Given the description of an element on the screen output the (x, y) to click on. 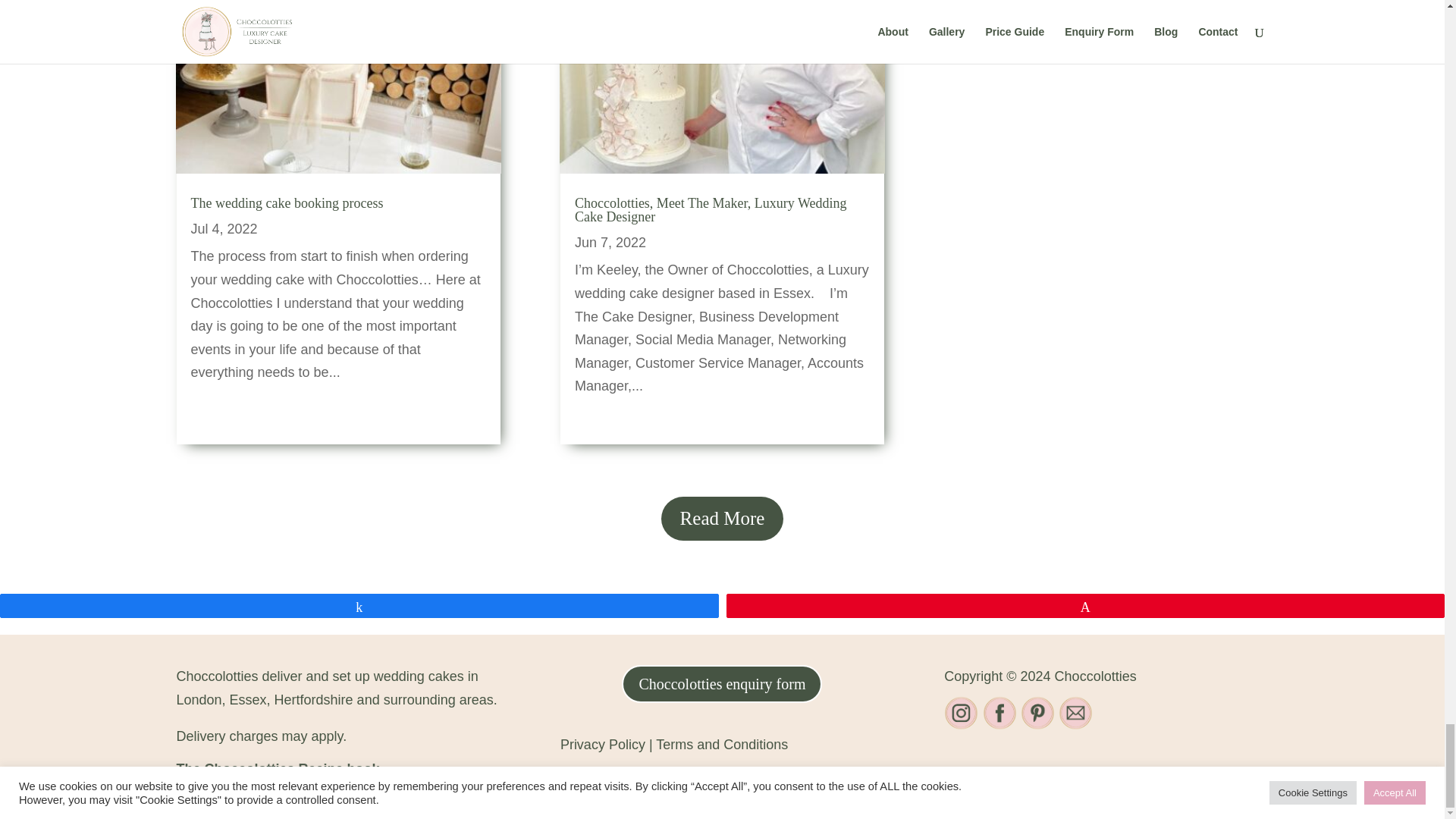
Choccolotties, Meet The Maker, Luxury Wedding Cake Designer (711, 209)
Privacy Policy (604, 744)
Read More (722, 518)
The wedding cake booking process (287, 202)
The Choccolotties Recipe book (277, 768)
Choccolotties enquiry form (721, 683)
Terms and Conditions (721, 744)
